Given the description of an element on the screen output the (x, y) to click on. 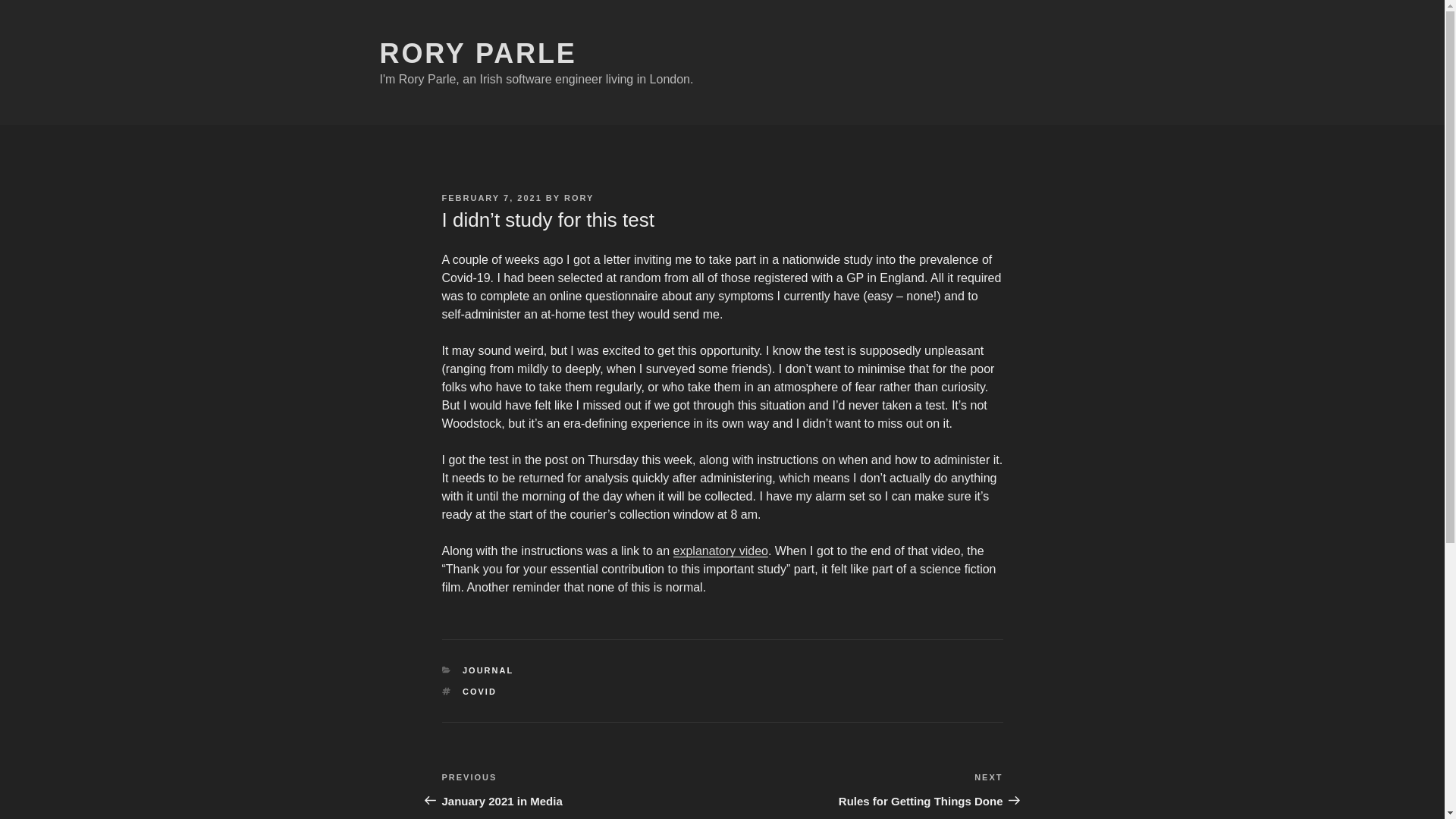
JOURNAL (488, 669)
explanatory video (581, 789)
RORY PARLE (720, 550)
RORY (477, 52)
FEBRUARY 7, 2021 (579, 197)
COVID (491, 197)
